Given the description of an element on the screen output the (x, y) to click on. 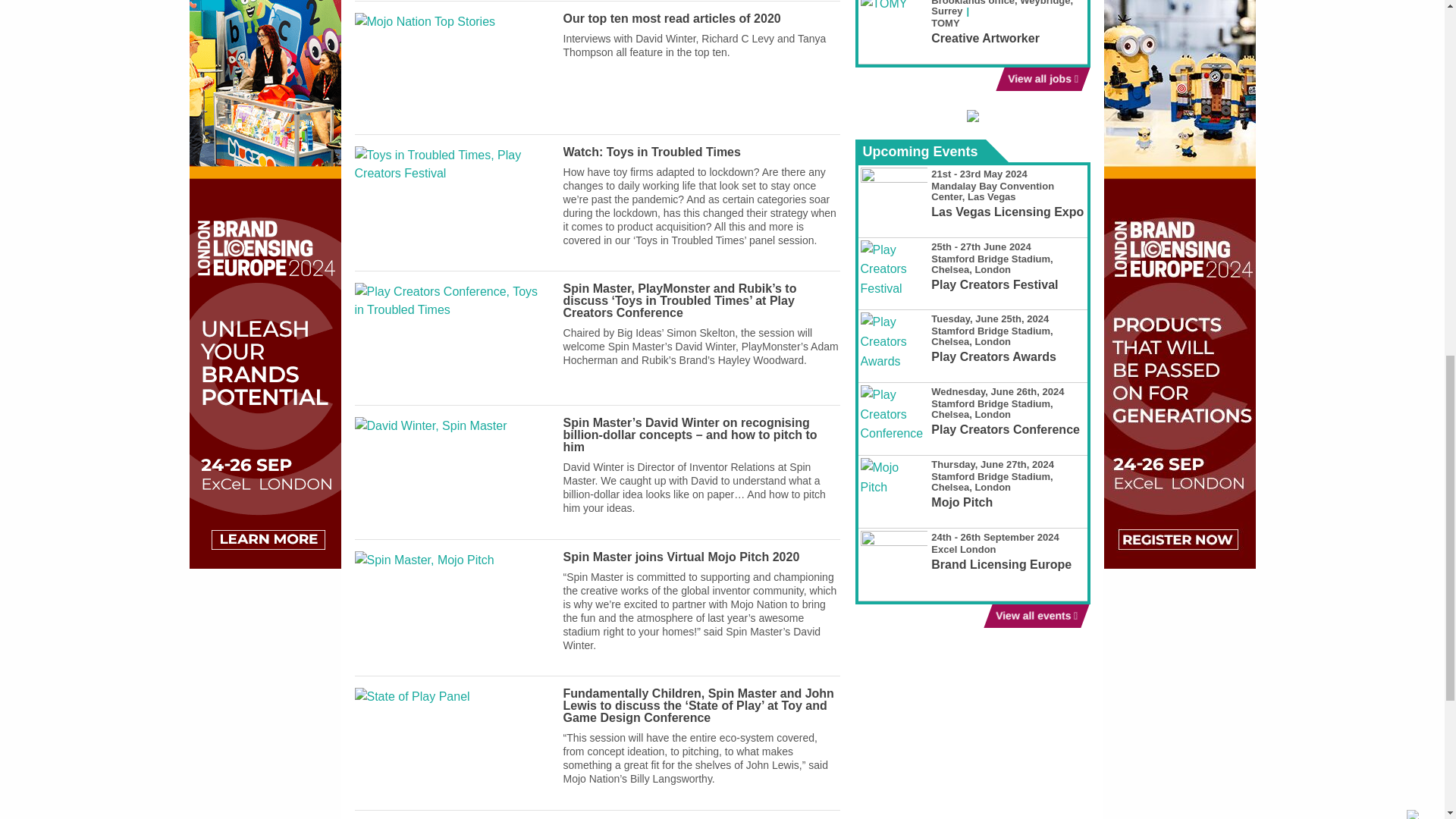
Watch: Toys in Troubled Times (652, 151)
Watch: Toys in Troubled Times (652, 151)
Our top ten most read articles of 2020 (671, 18)
Watch: Toys in Troubled Times (451, 201)
Our top ten most read articles of 2020 (451, 68)
Our top ten most read articles of 2020 (671, 18)
